Given the description of an element on the screen output the (x, y) to click on. 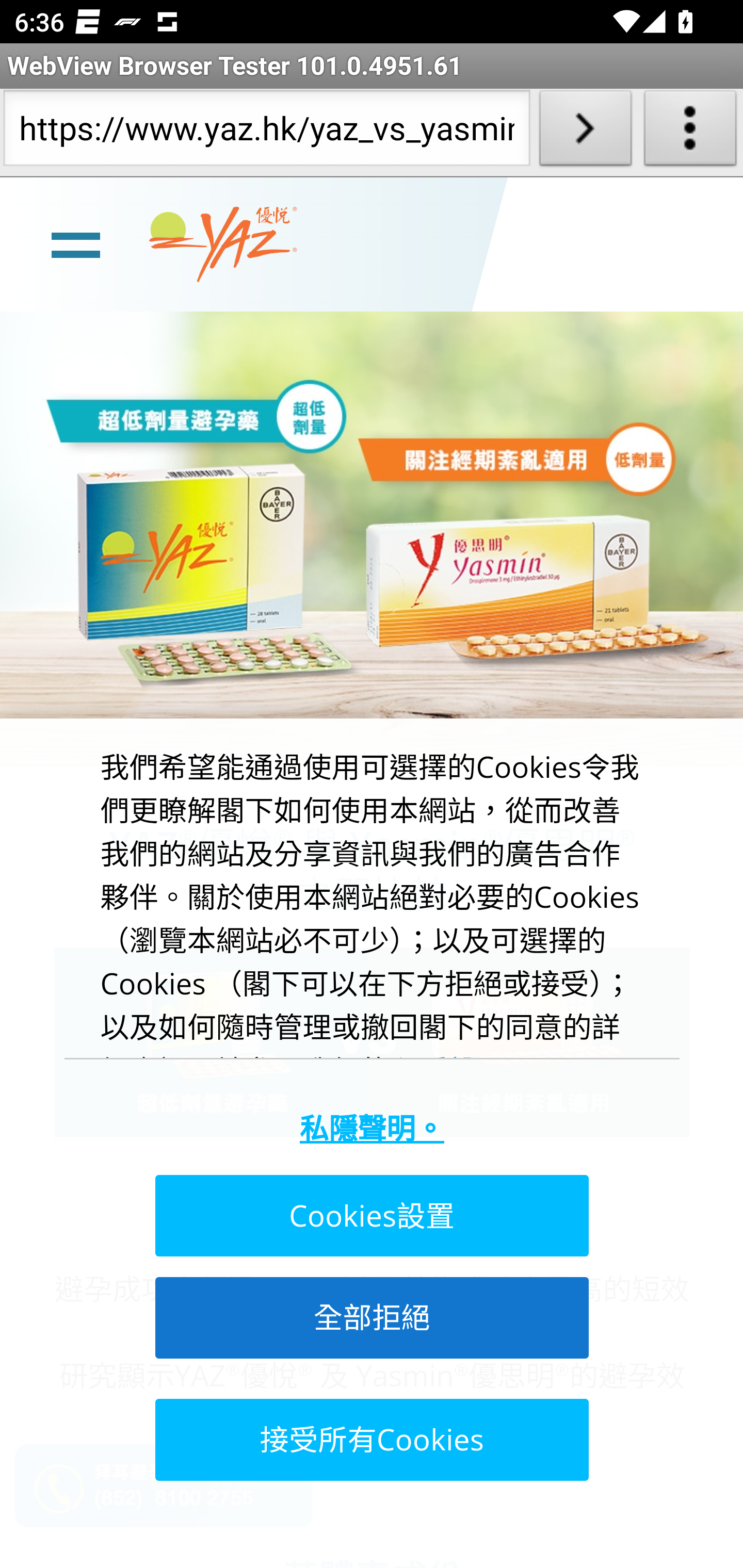
Load URL (585, 132)
About WebView (690, 132)
www.yaz (222, 244)
line Toggle burger menu (75, 242)
Cookies設置 (370, 1215)
全部拒絕 (370, 1317)
接受所有Cookies (370, 1439)
